Given the description of an element on the screen output the (x, y) to click on. 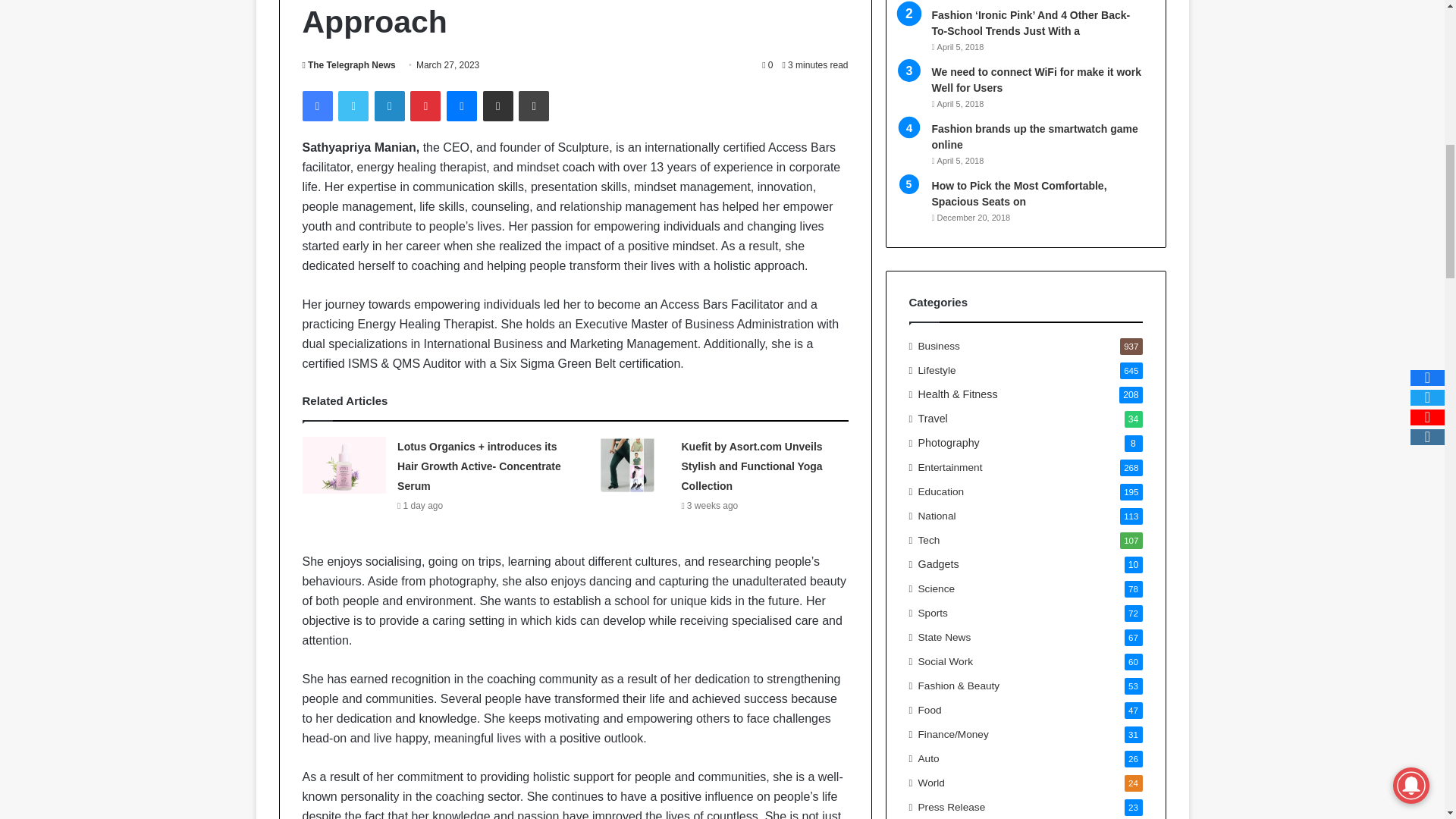
Pinterest (425, 105)
Twitter (352, 105)
Facebook (316, 105)
Messenger (461, 105)
Share via Email (498, 105)
LinkedIn (389, 105)
The Telegraph News (347, 64)
Print (533, 105)
